Given the description of an element on the screen output the (x, y) to click on. 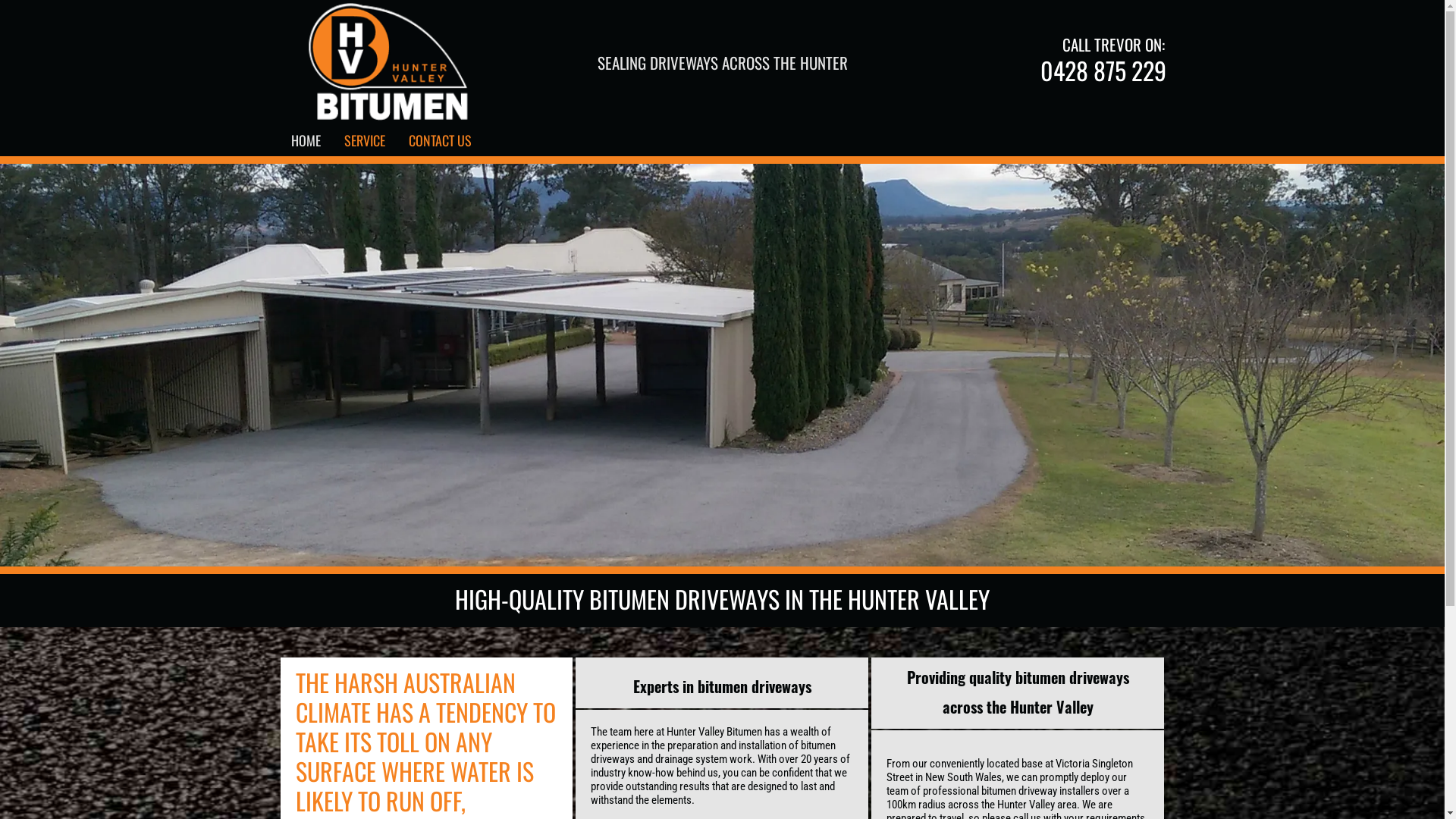
CONTACT US Element type: text (438, 140)
HOME Element type: text (305, 140)
driveway-fence Element type: hover (722, 364)
0428 875 229 Element type: text (1103, 69)
huntervalley-bitumen-logo Element type: hover (389, 61)
SERVICE Element type: text (364, 140)
